Given the description of an element on the screen output the (x, y) to click on. 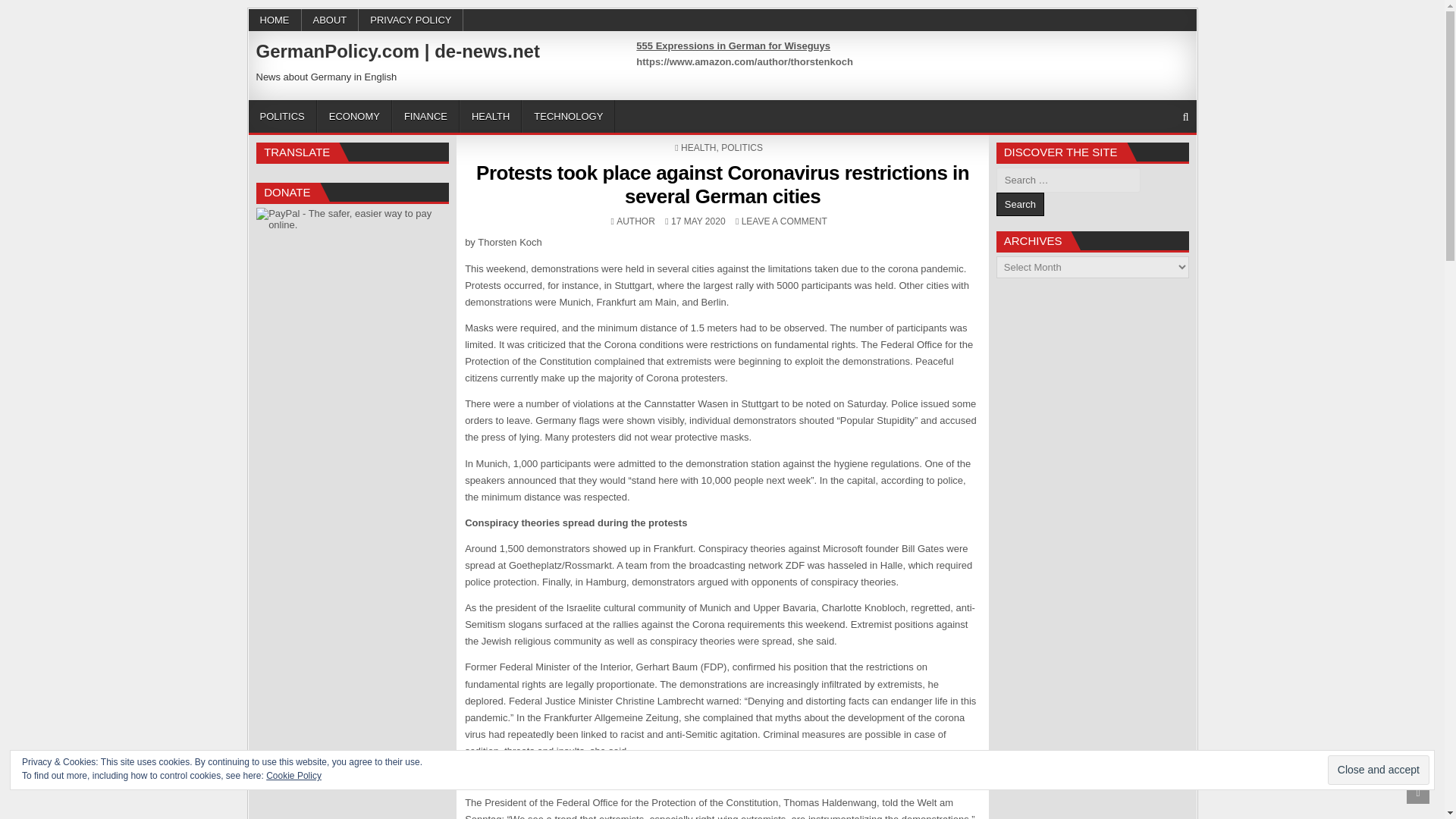
ABOUT (330, 20)
HEALTH (490, 115)
HEALTH (698, 147)
HOME (274, 20)
TECHNOLOGY (567, 115)
POLITICS (741, 147)
Close and accept (1378, 769)
Search (1019, 204)
FINANCE (425, 115)
Search (635, 221)
POLITICS (1019, 204)
ECONOMY (282, 115)
Search (354, 115)
